Given the description of an element on the screen output the (x, y) to click on. 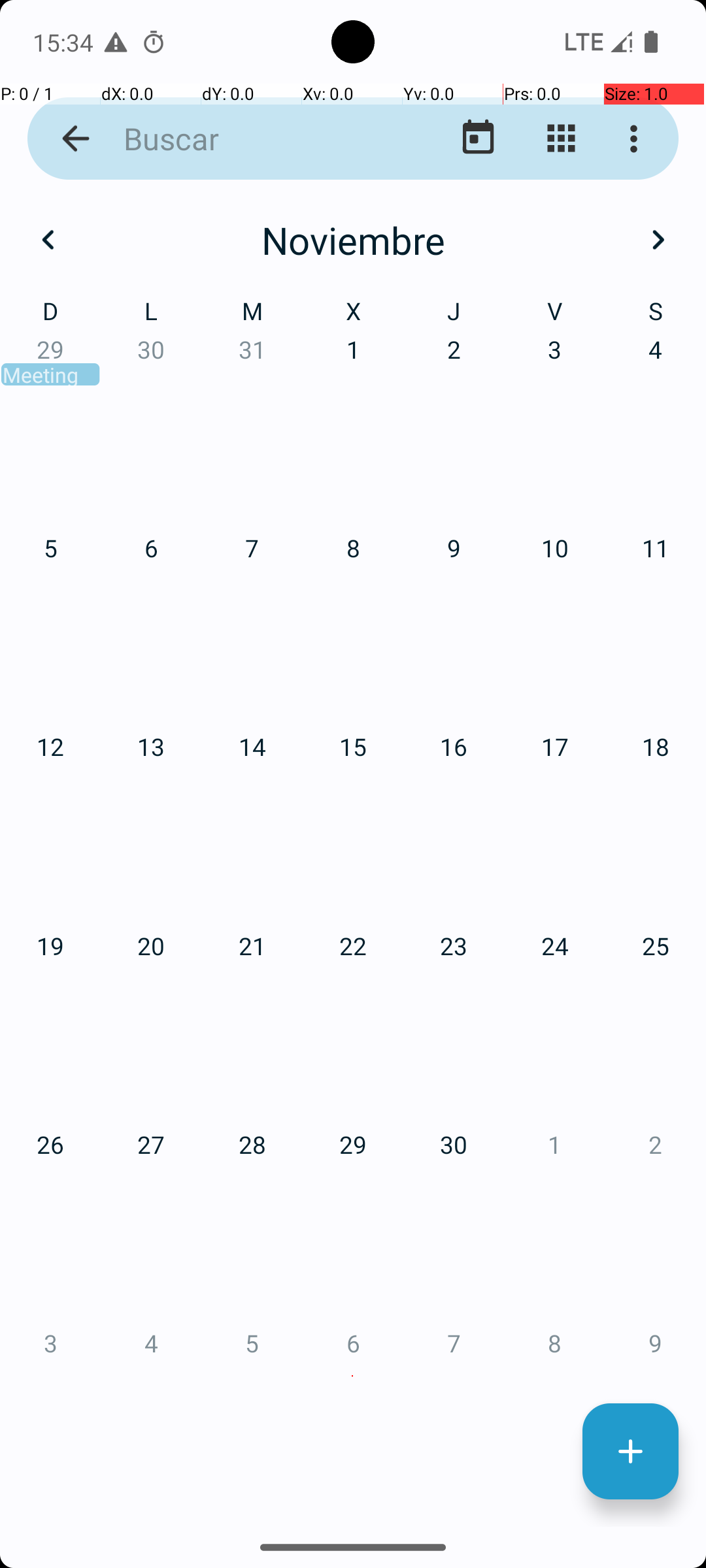
Ir al día de hoy Element type: android.widget.Button (477, 138)
ENERO Element type: android.widget.TextView (123, 319)
FEBRERO Element type: android.widget.TextView (352, 319)
MARZO Element type: android.widget.TextView (582, 319)
ABRIL Element type: android.widget.TextView (123, 621)
MAYO Element type: android.widget.TextView (352, 621)
JUNIO Element type: android.widget.TextView (582, 621)
JULIO Element type: android.widget.TextView (123, 923)
AGOSTO Element type: android.widget.TextView (352, 923)
SEPTIEMBRE Element type: android.widget.TextView (582, 923)
OCTUBRE Element type: android.widget.TextView (123, 1224)
NOVIEMBRE Element type: android.widget.TextView (352, 1224)
DICIEMBRE Element type: android.widget.TextView (582, 1224)
Noviembre Element type: android.widget.TextView (352, 239)
